Given the description of an element on the screen output the (x, y) to click on. 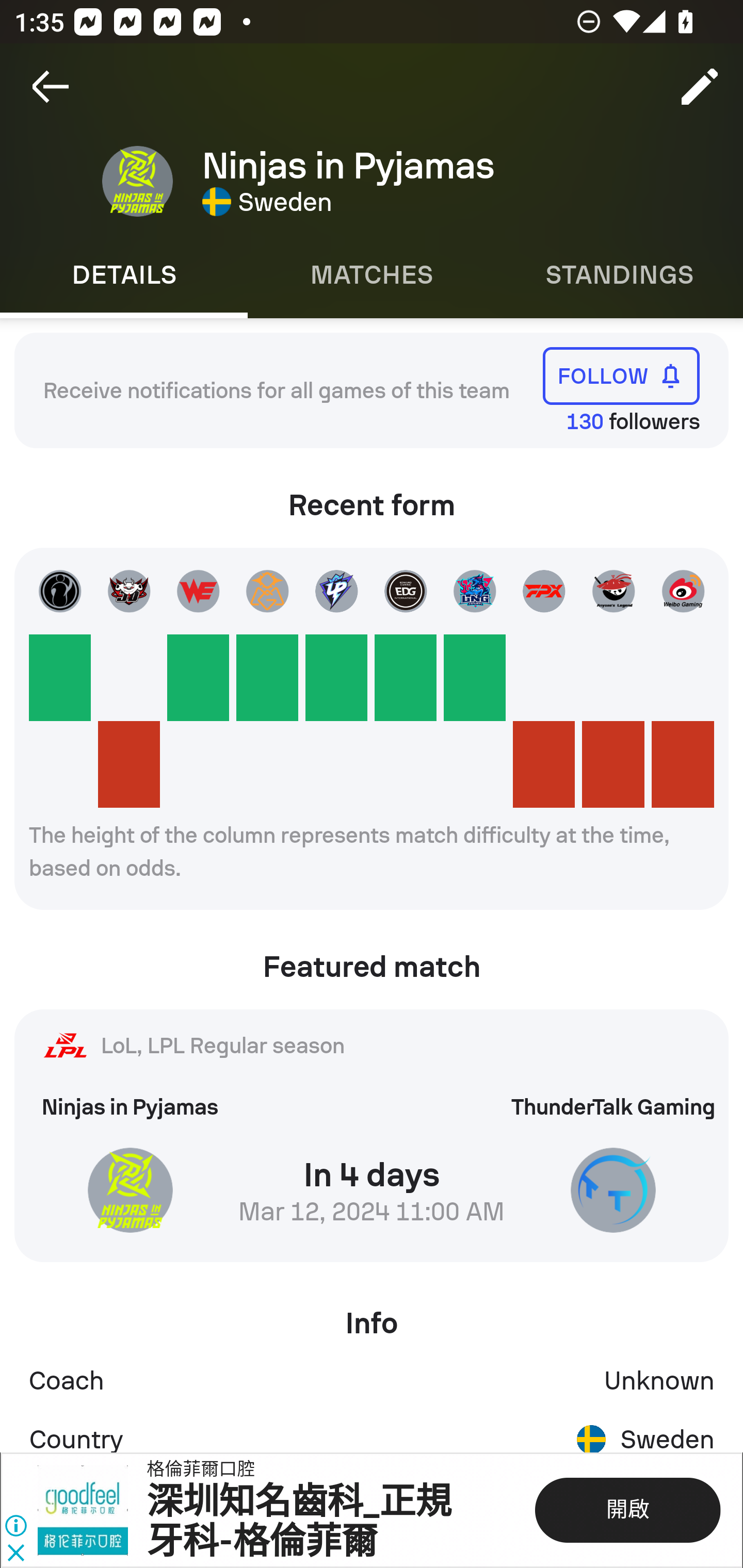
Navigate up (50, 86)
Edit (699, 86)
Matches MATCHES (371, 275)
Standings STANDINGS (619, 275)
FOLLOW (621, 375)
格倫菲爾口腔 (200, 1469)
zz_index%3Fgoogle-yczz-PM (92, 1509)
開啟 (626, 1509)
深圳知名齒科_正規 牙科-格倫菲爾 深圳知名齒科_正規 牙科-格倫菲爾 (298, 1521)
